Given the description of an element on the screen output the (x, y) to click on. 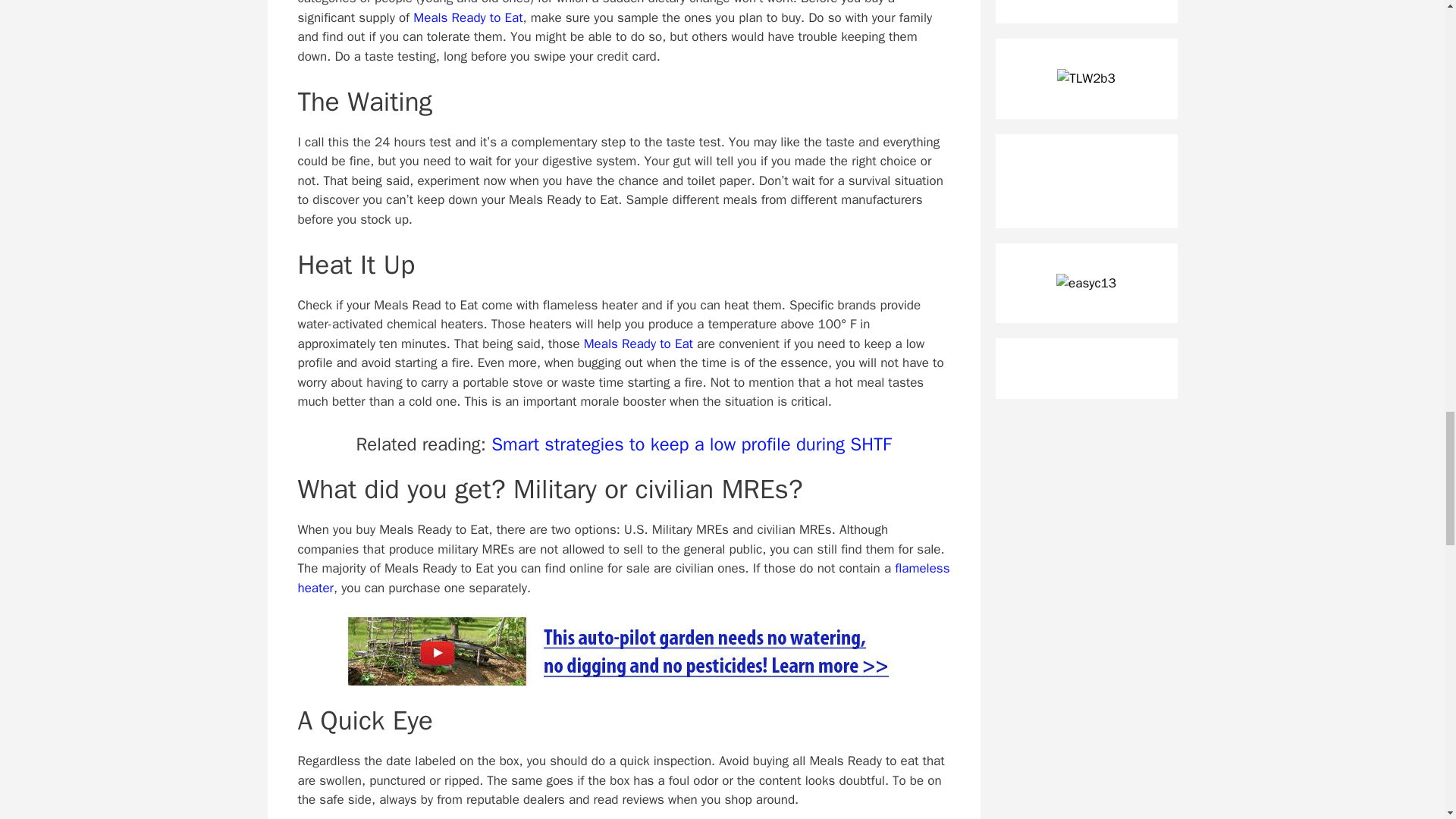
Meals Ready to Eat (467, 17)
Meals Ready to Eat (638, 343)
Smart strategies to keep a low profile during SHTF (691, 444)
flameless heater (623, 578)
